Given the description of an element on the screen output the (x, y) to click on. 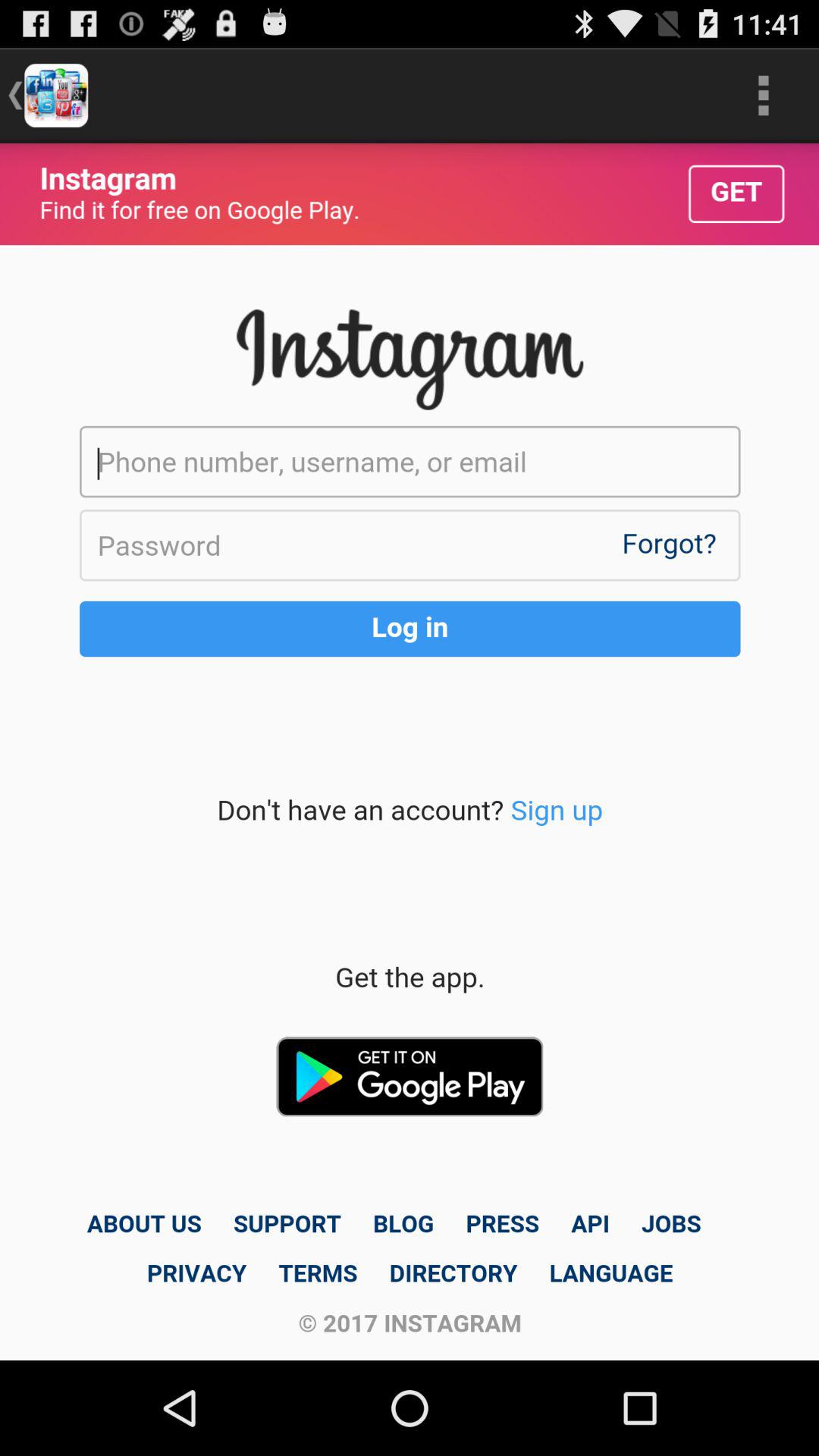
enter personal info (409, 751)
